Given the description of an element on the screen output the (x, y) to click on. 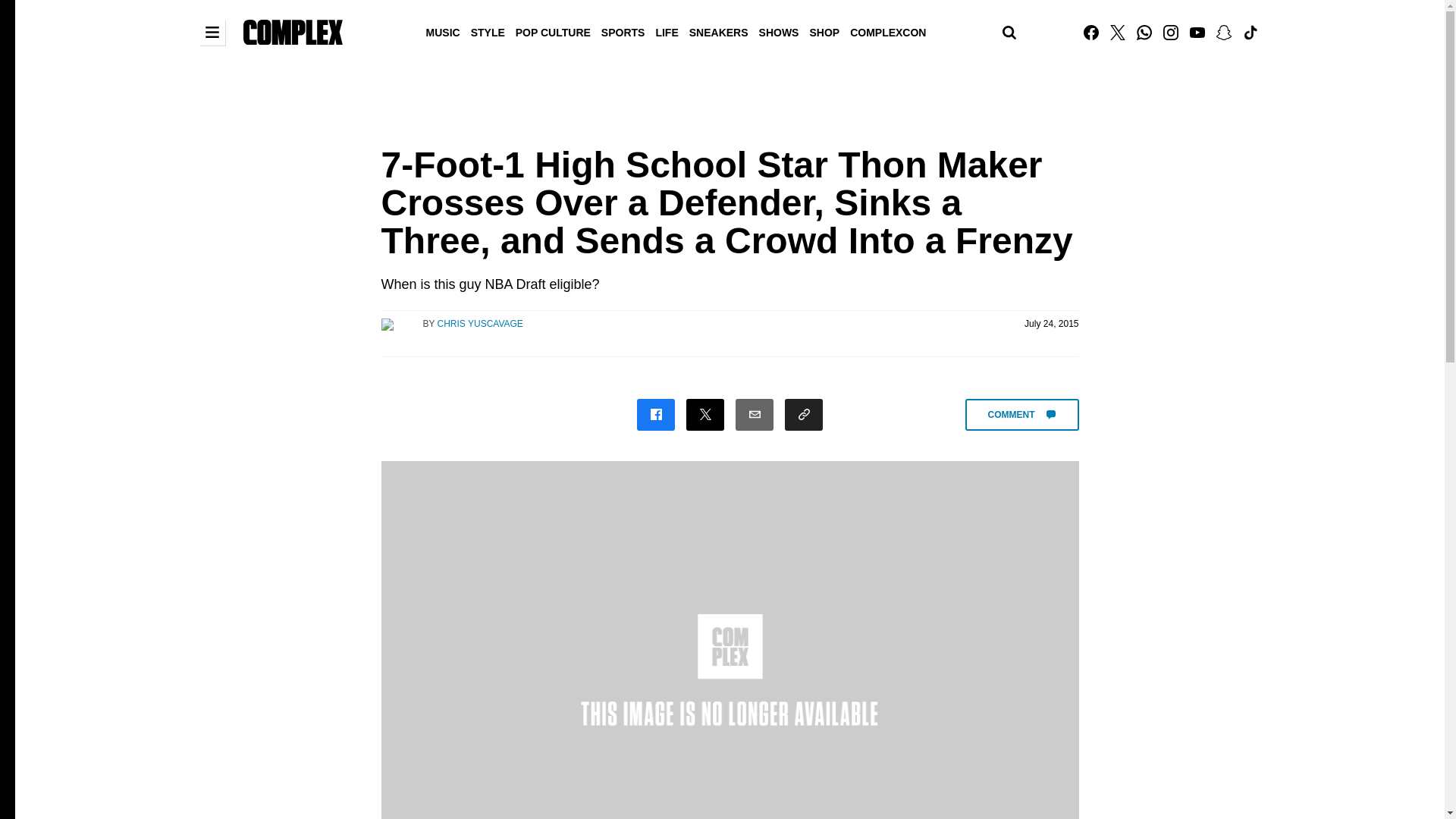
COMPLEXCON (887, 30)
SPORTS (622, 30)
POP CULTURE (553, 30)
SHOWS (779, 30)
MUSIC (442, 30)
LIFE (665, 30)
SHOP (823, 30)
STYLE (488, 30)
SNEAKERS (719, 30)
